Given the description of an element on the screen output the (x, y) to click on. 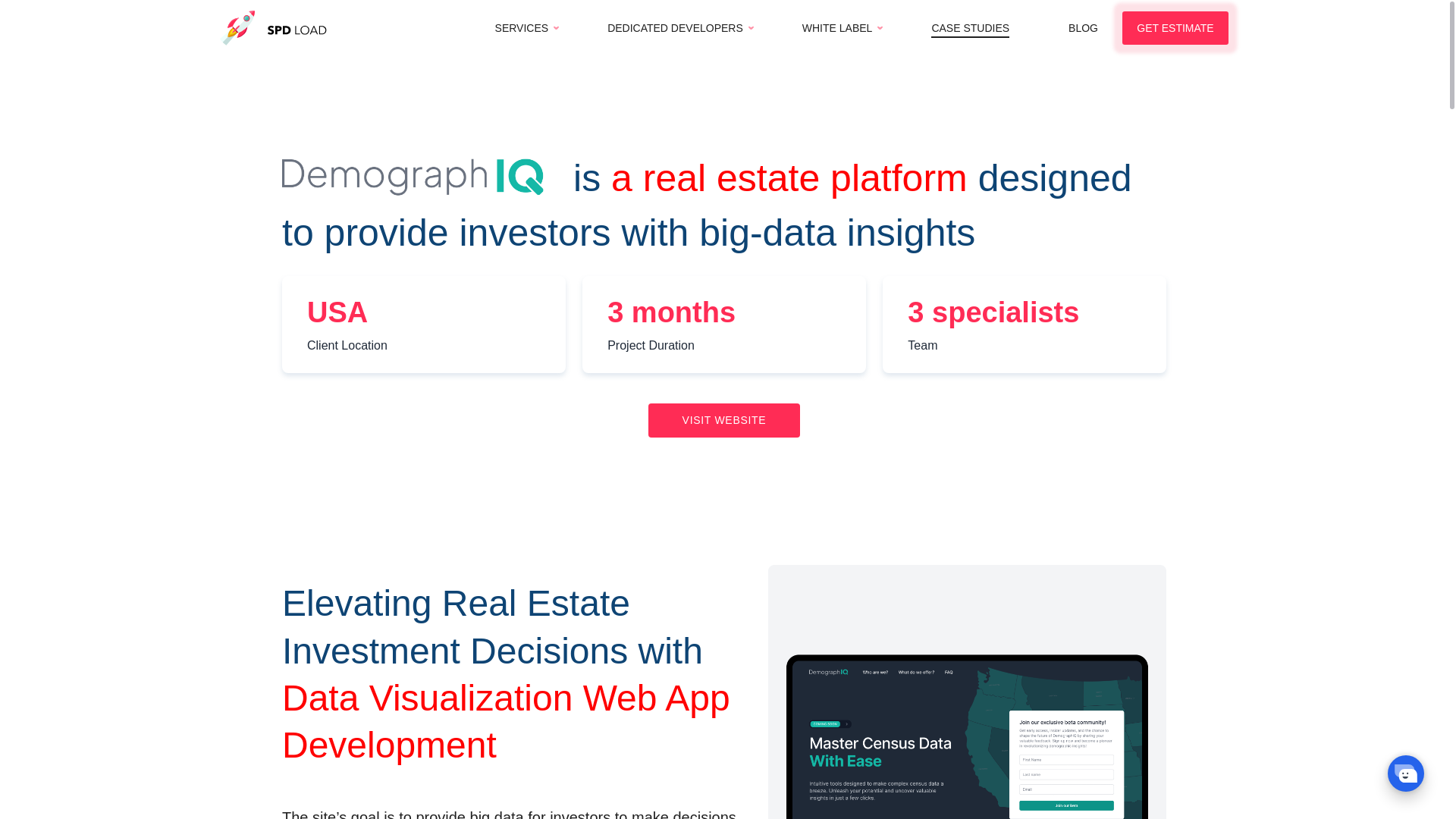
WHITE LABEL (837, 28)
SERVICES (521, 28)
BLOG (1082, 28)
VISIT WEBSITE (723, 420)
DEDICATED DEVELOPERS (674, 28)
CASE STUDIES (970, 28)
GET ESTIMATE (1175, 28)
